Given the description of an element on the screen output the (x, y) to click on. 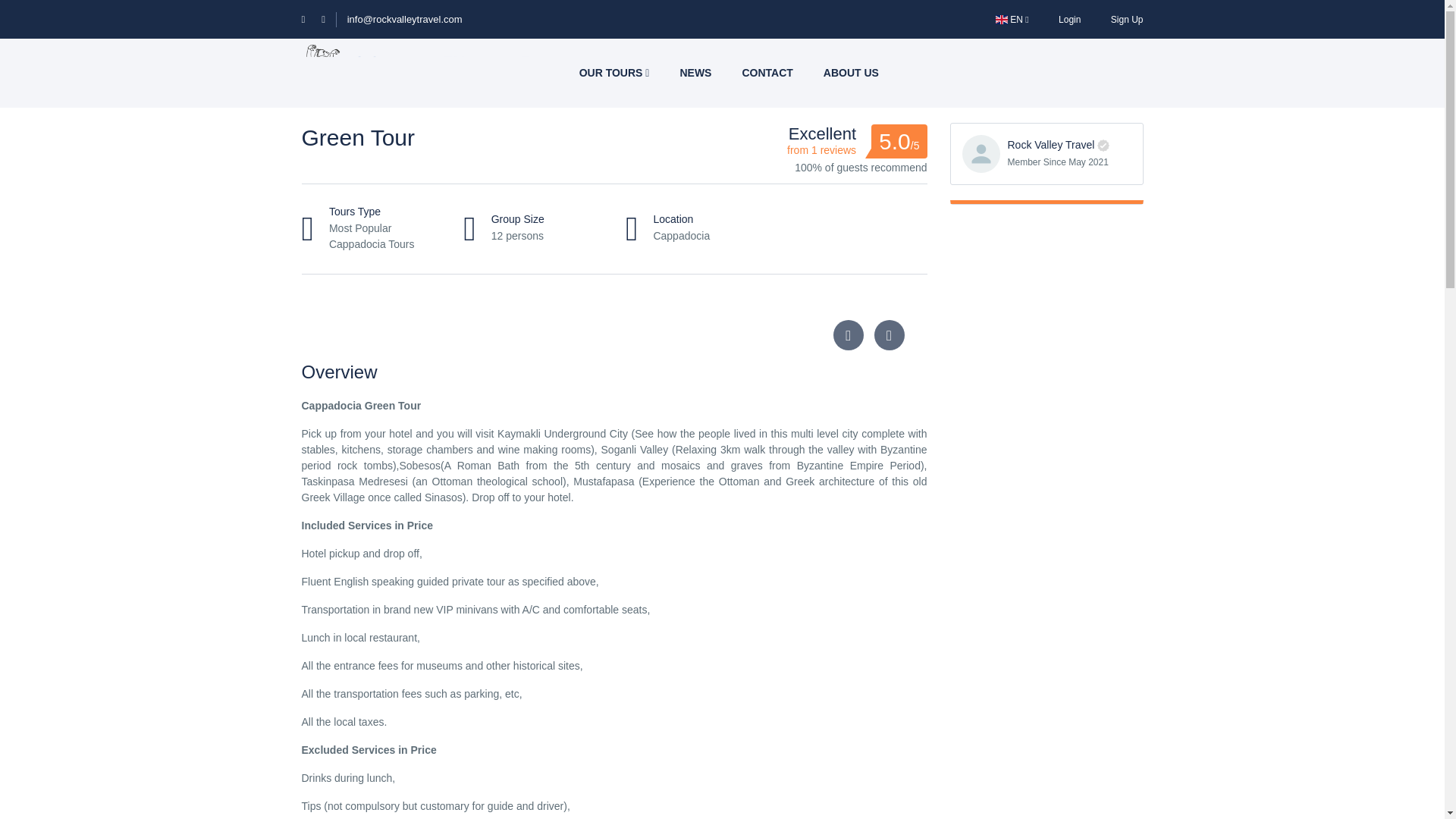
Sign Up (1126, 18)
EN (1012, 18)
OUR TOURS (614, 72)
Login (1069, 18)
Not verified (1103, 145)
